Given the description of an element on the screen output the (x, y) to click on. 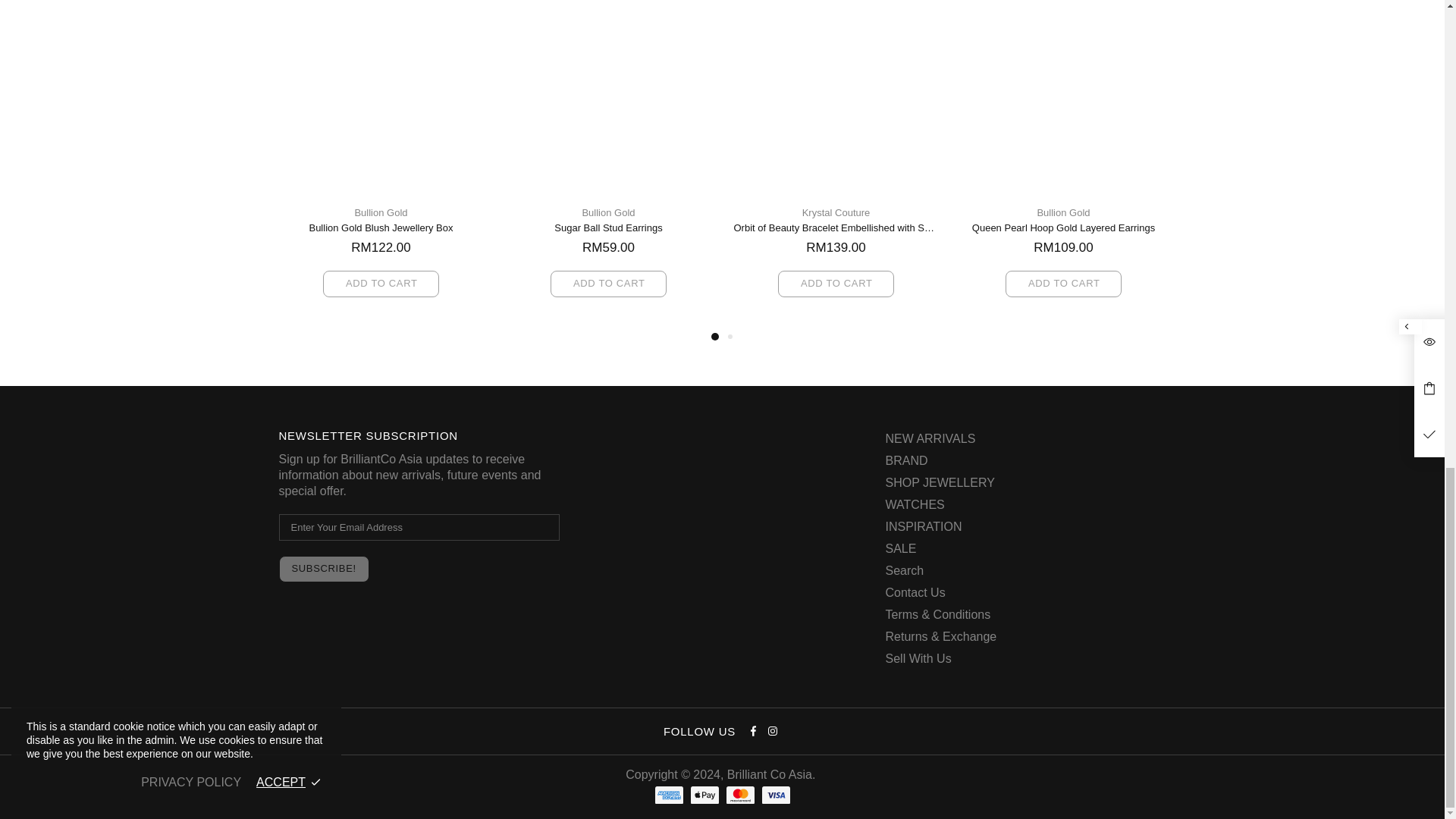
SUBSCRIBE! (324, 569)
